Given the description of an element on the screen output the (x, y) to click on. 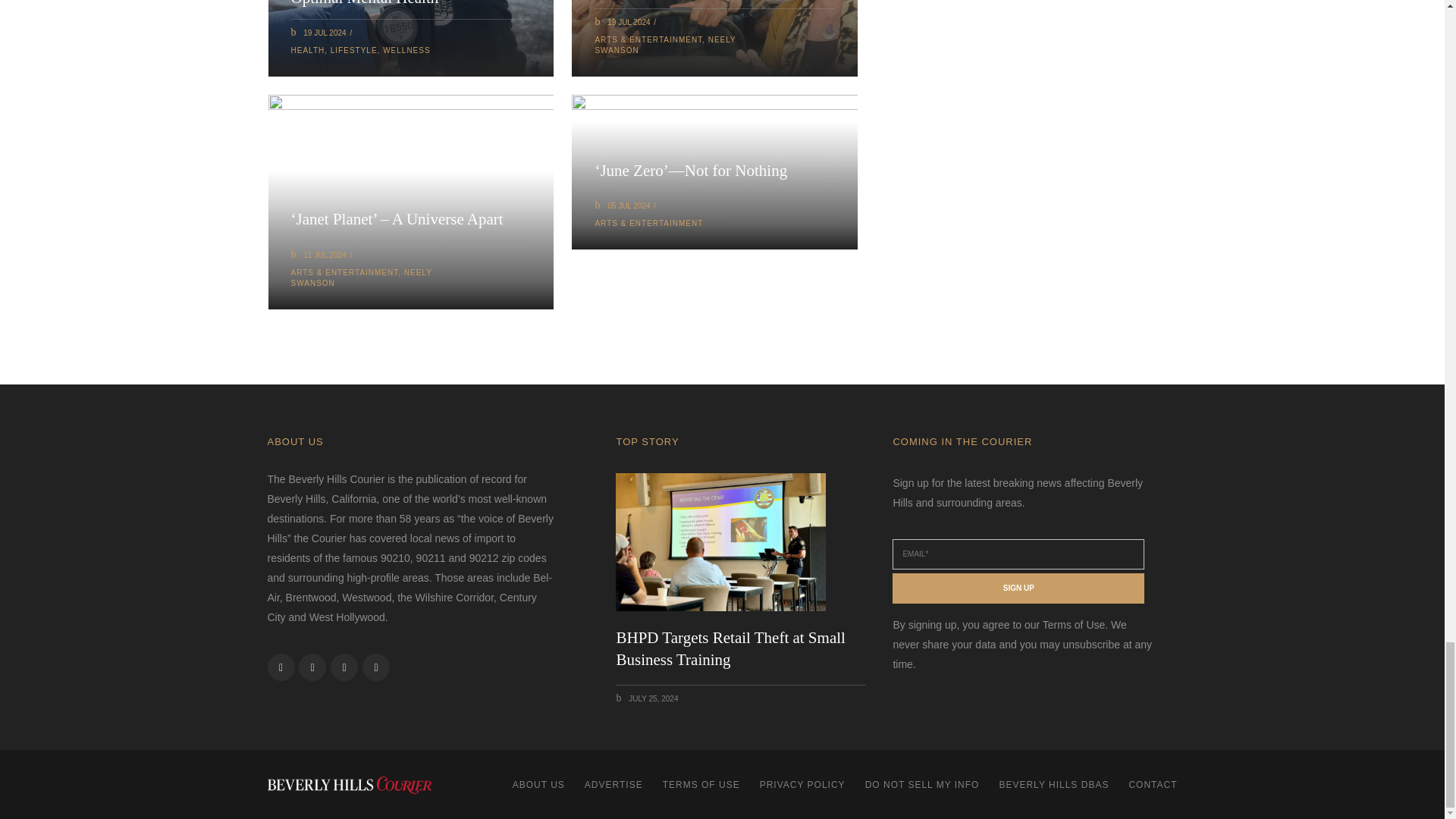
SIGN UP (1018, 588)
